Given the description of an element on the screen output the (x, y) to click on. 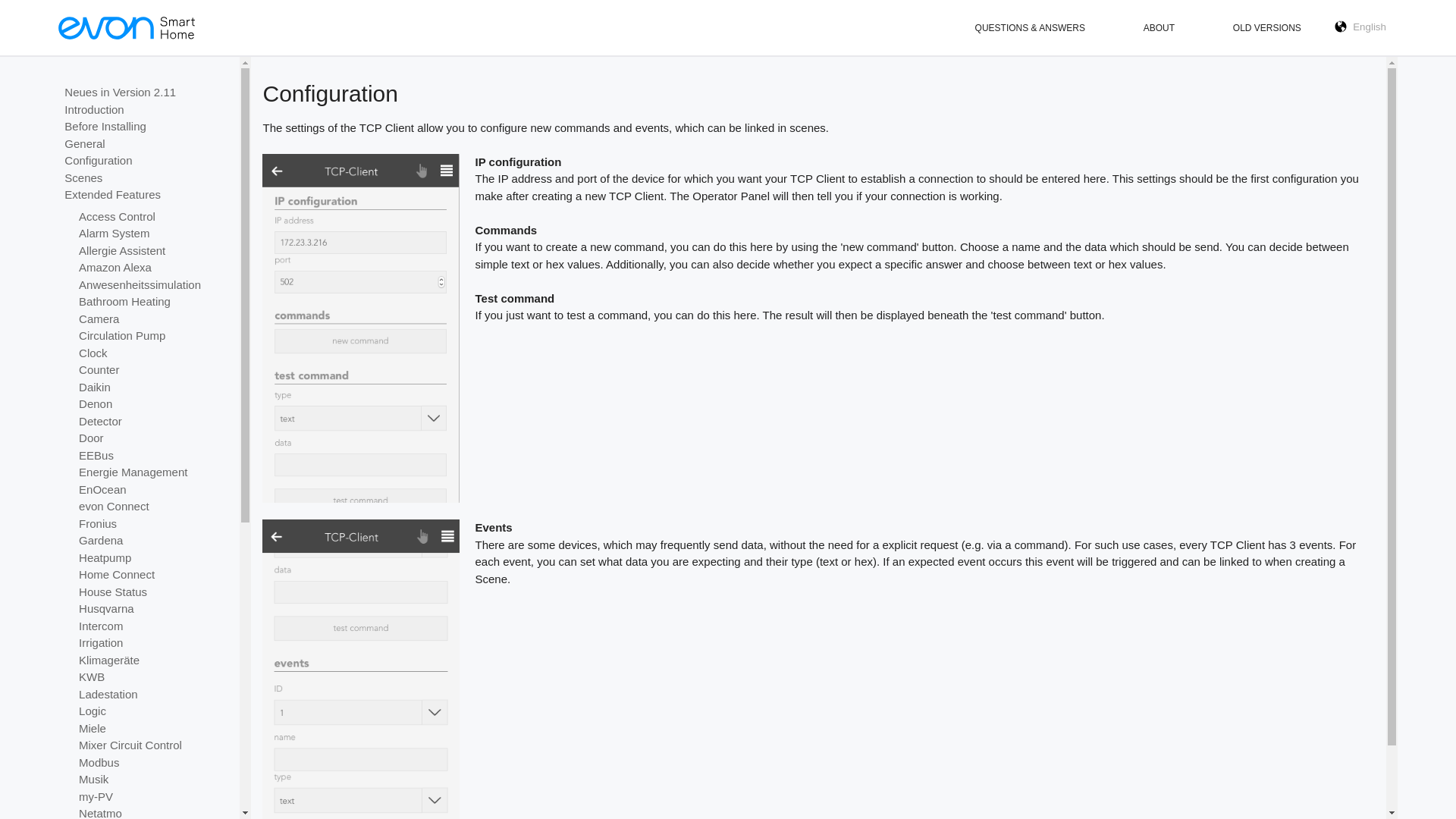
ABOUT (1159, 27)
Introduction (143, 109)
OLD VERSIONS (1267, 27)
Neues in Version 2.11 (143, 92)
General (143, 143)
Before Installing (143, 126)
